Given the description of an element on the screen output the (x, y) to click on. 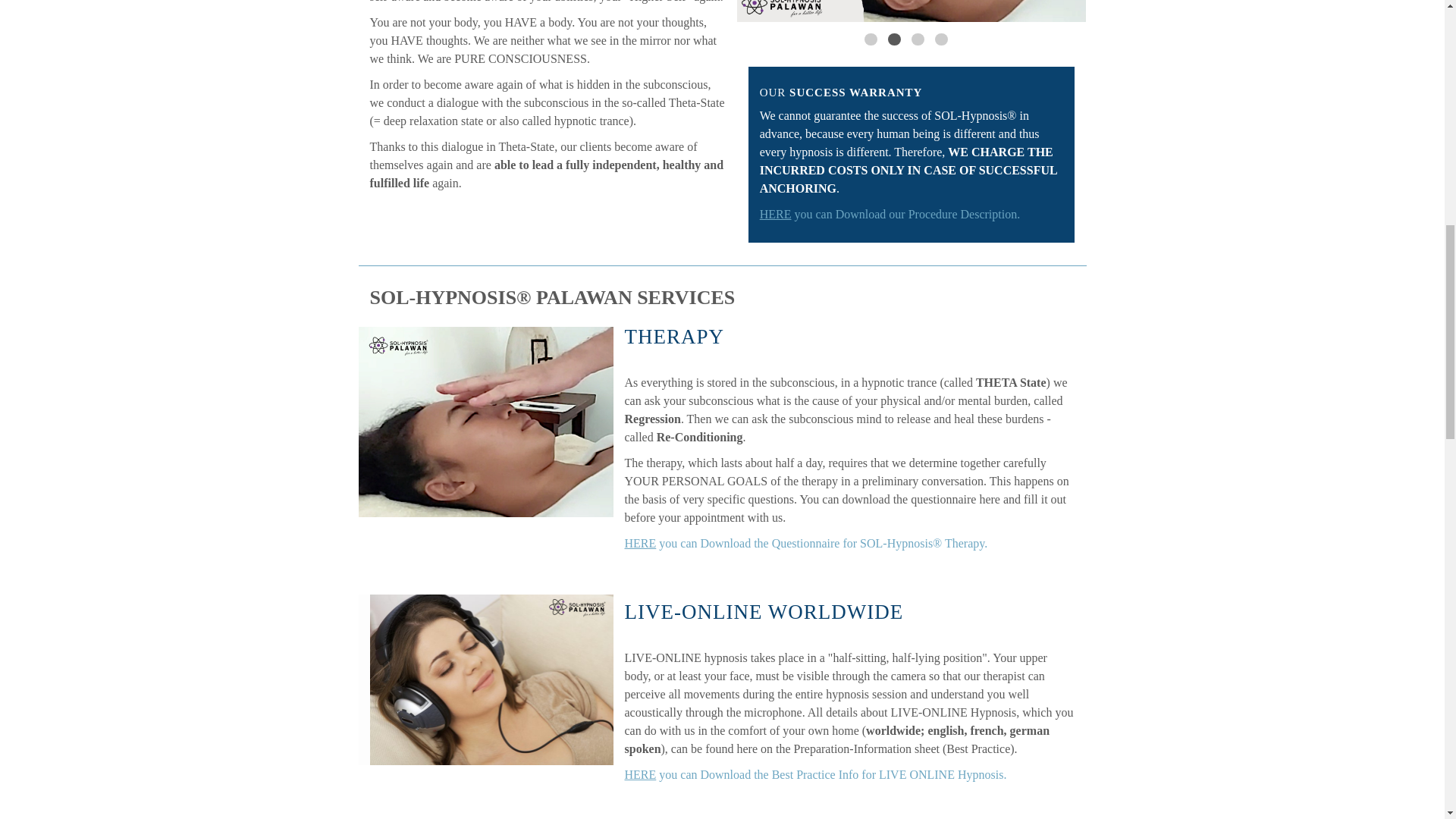
1 (870, 39)
2 (894, 39)
3 (917, 39)
4 (940, 39)
HERE you can Download our Procedure Description. (890, 214)
